Given the description of an element on the screen output the (x, y) to click on. 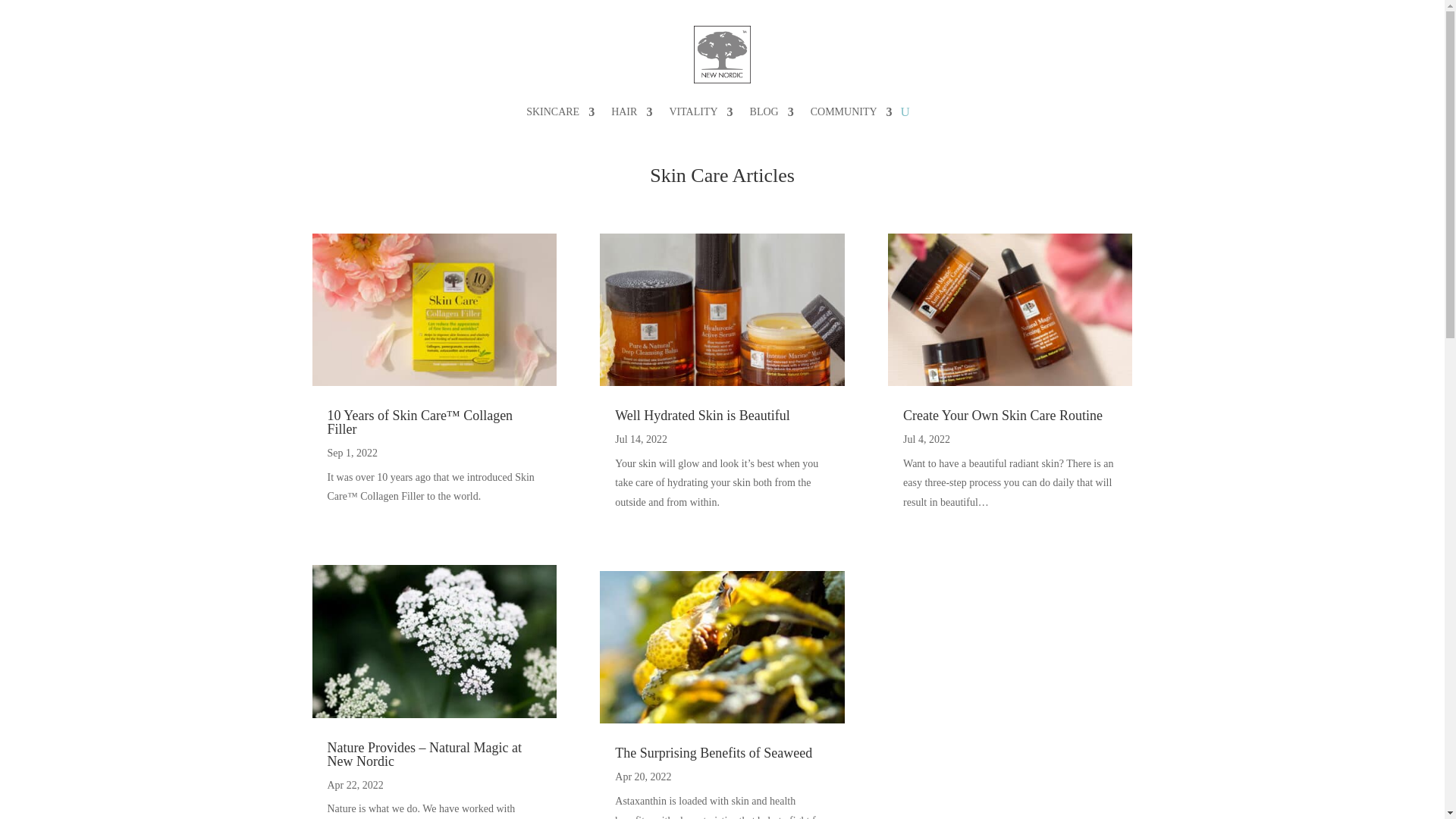
COMMUNITY (851, 111)
HAIR (631, 111)
BLOG (771, 111)
SKINCARE (559, 111)
VITALITY (700, 111)
